Given the description of an element on the screen output the (x, y) to click on. 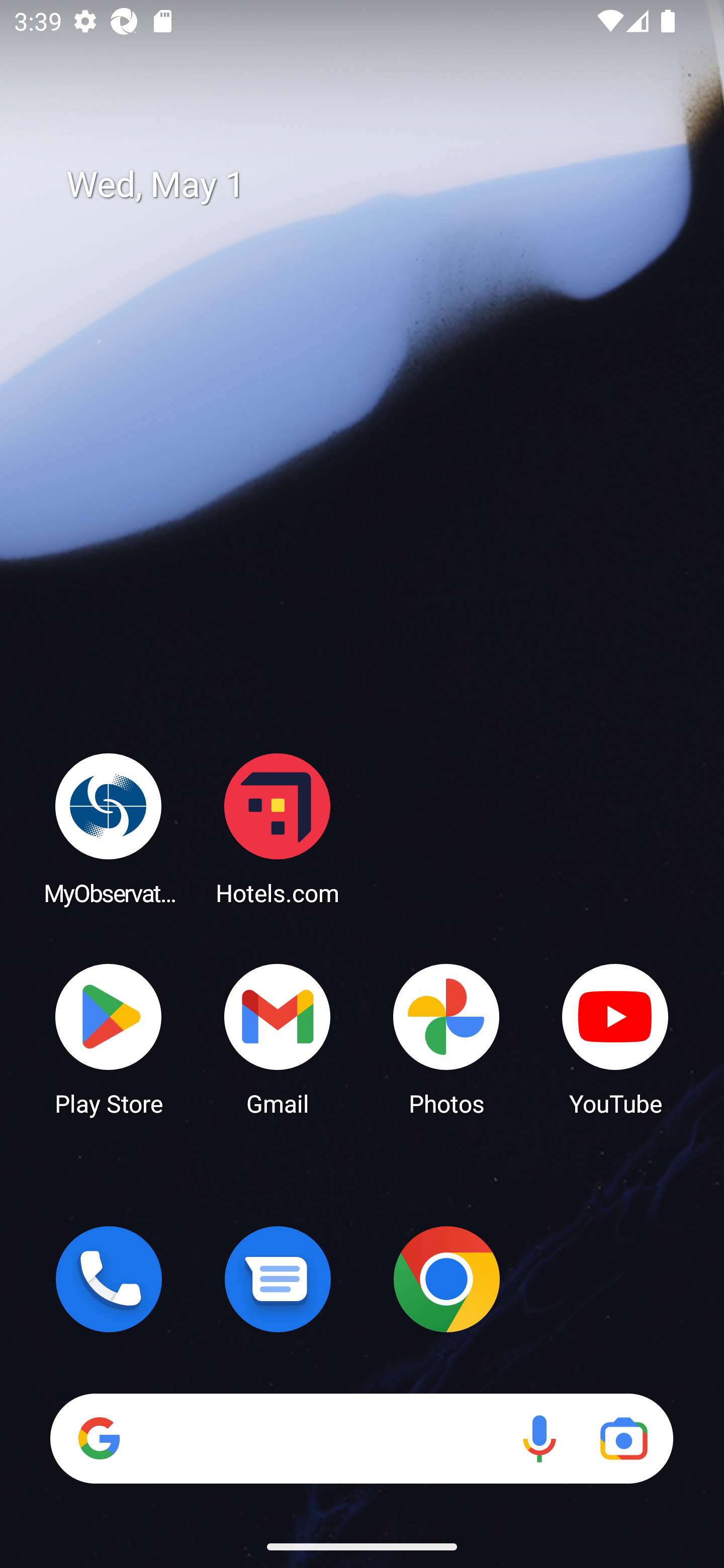
Wed, May 1 (375, 184)
MyObservatory (108, 828)
Hotels.com (277, 828)
Play Store (108, 1038)
Gmail (277, 1038)
Photos (445, 1038)
YouTube (615, 1038)
Phone (108, 1279)
Messages (277, 1279)
Chrome (446, 1279)
Search Voice search Google Lens (361, 1438)
Voice search (539, 1438)
Google Lens (623, 1438)
